Given the description of an element on the screen output the (x, y) to click on. 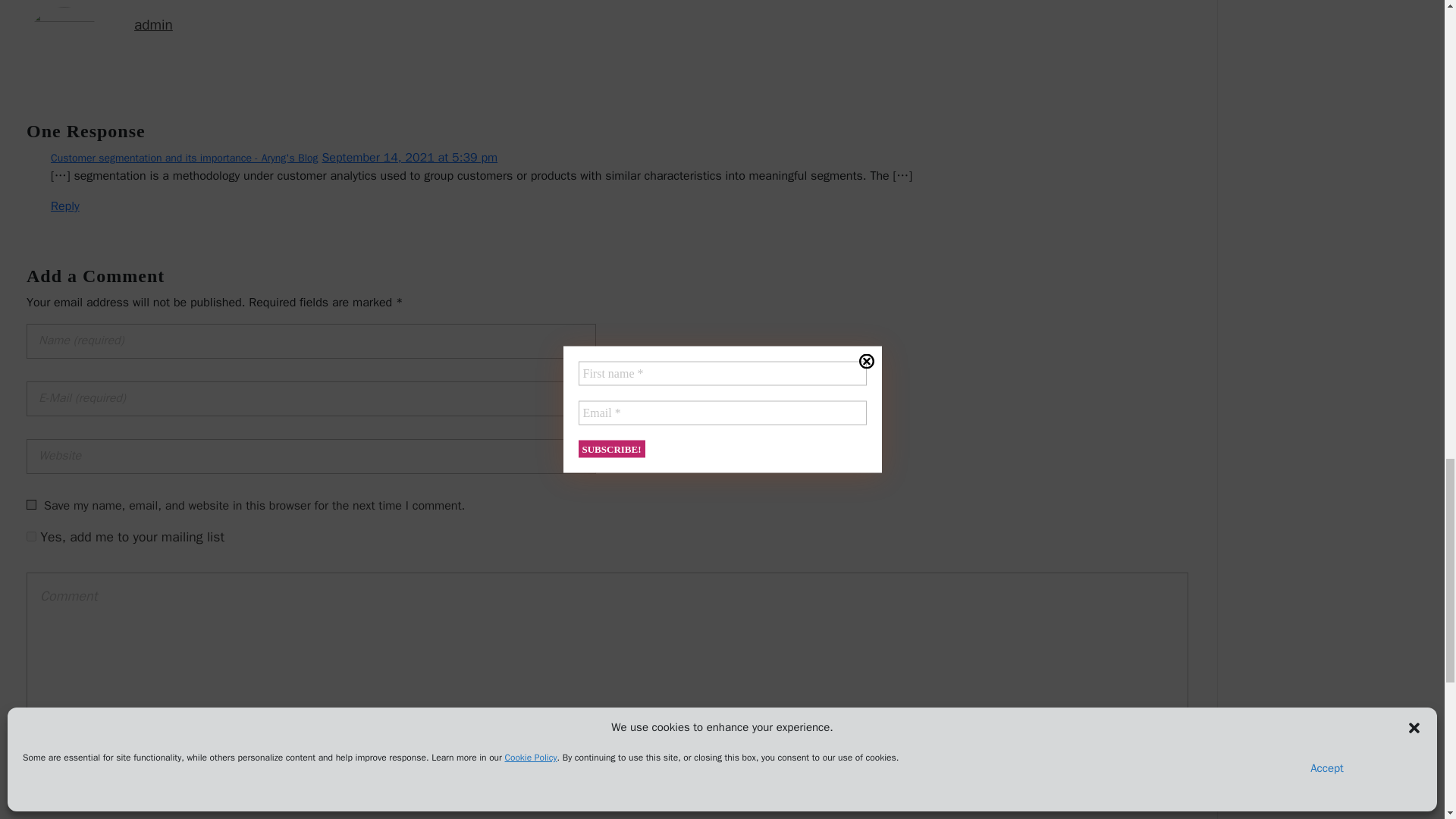
View all posts by admin (153, 24)
yes (31, 504)
1 (31, 536)
